Given the description of an element on the screen output the (x, y) to click on. 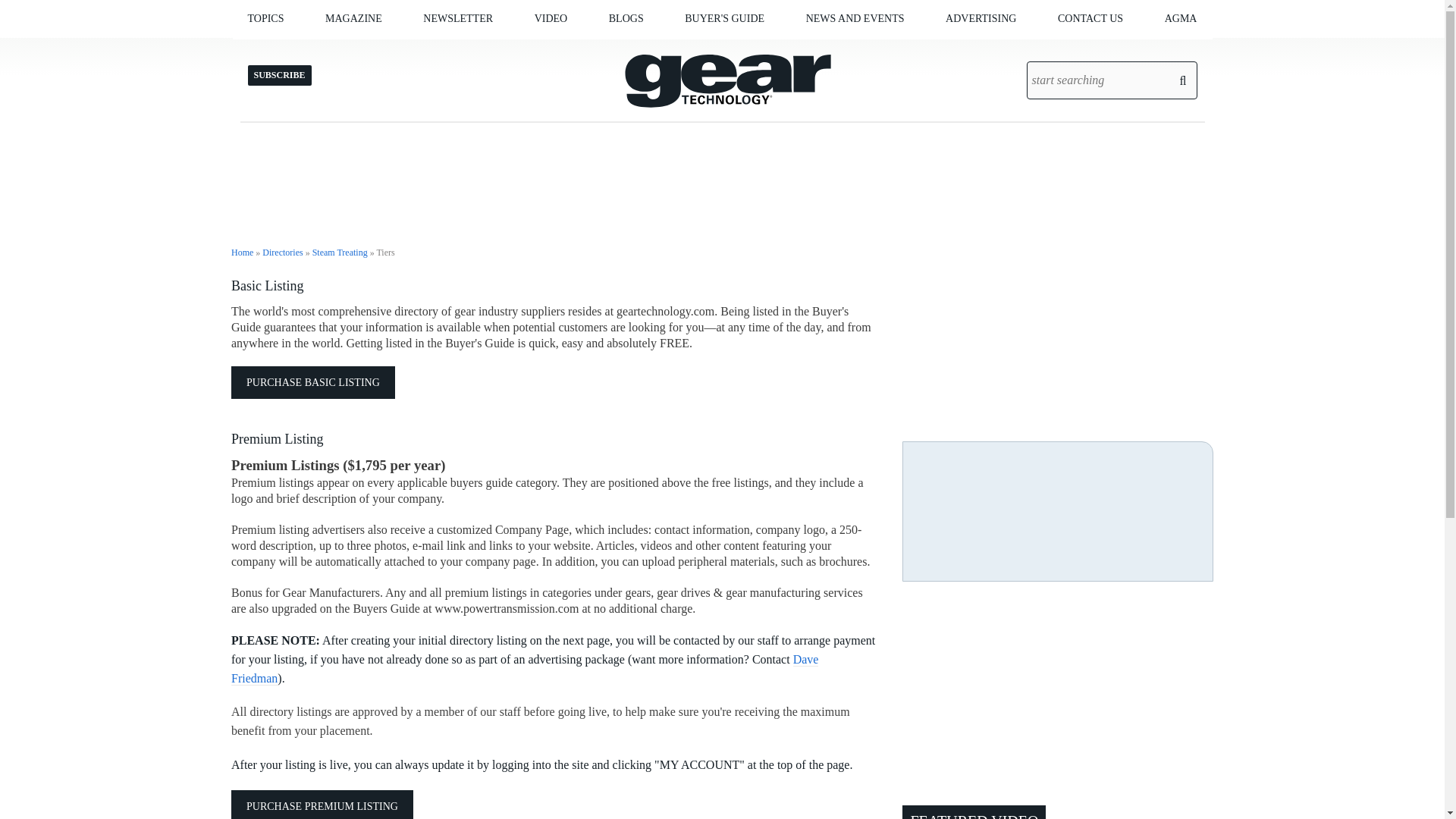
GEAR TECHNOLOGY TV (609, 50)
ARCHIVES (411, 50)
BUYER'S GUIDE (724, 18)
MAGAZINE (352, 18)
NEWS AND EVENTS (855, 18)
LUBRICATION (342, 50)
DEPARTMENTS (407, 50)
TOPICS (265, 18)
HEAT TREATING (338, 50)
NEWSLETTER (458, 18)
